Given the description of an element on the screen output the (x, y) to click on. 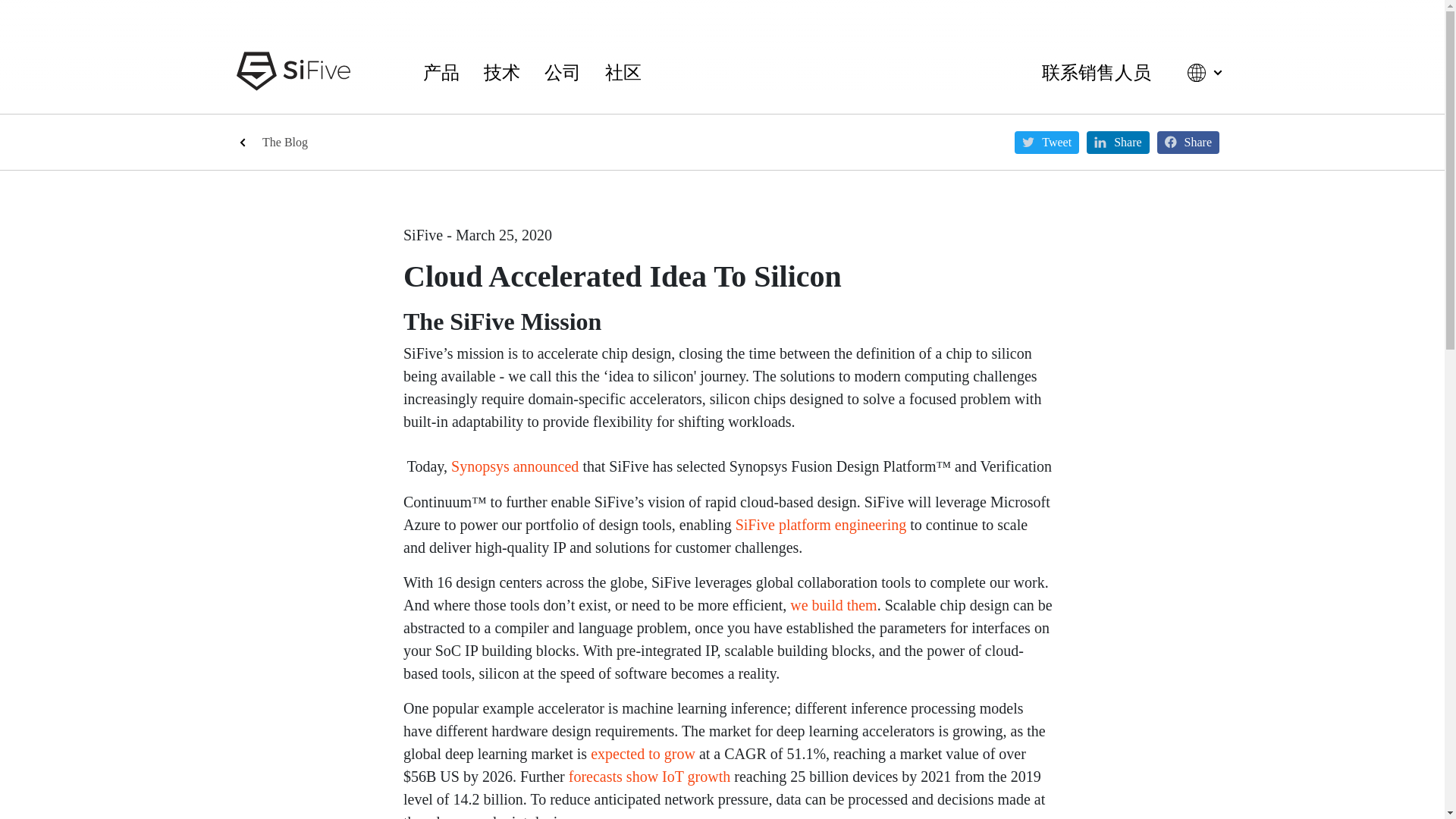
Share (1117, 141)
expected to grow (643, 753)
we build them (833, 605)
The Blog (284, 142)
SiFive platform engineering (821, 524)
forecasts show IoT growth (649, 776)
Synopsys announced (514, 466)
SiFive (292, 70)
Share (1188, 141)
Tweet (1046, 141)
